Given the description of an element on the screen output the (x, y) to click on. 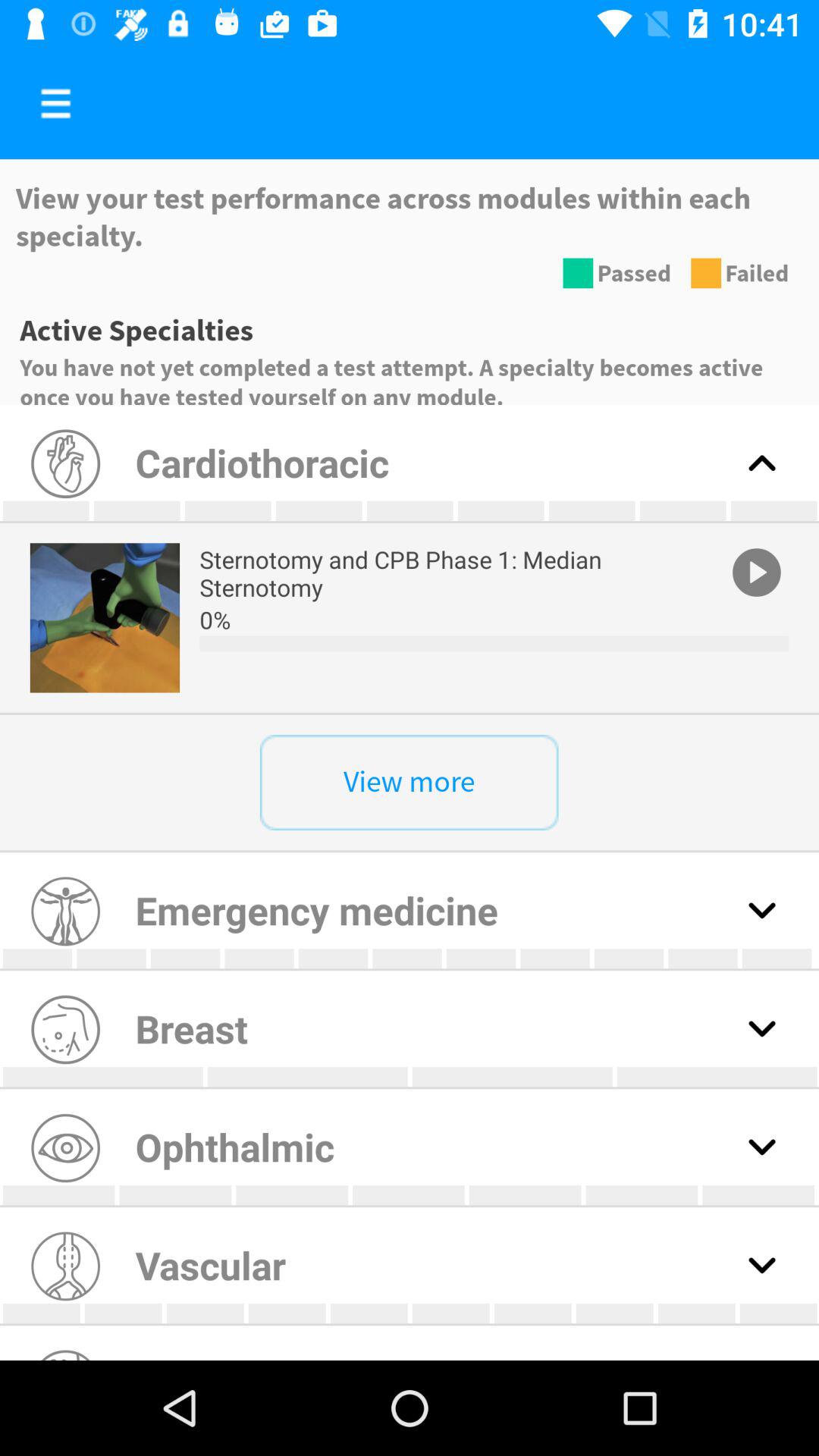
click on the drop down beside ophthalmic (762, 1146)
